Given the description of an element on the screen output the (x, y) to click on. 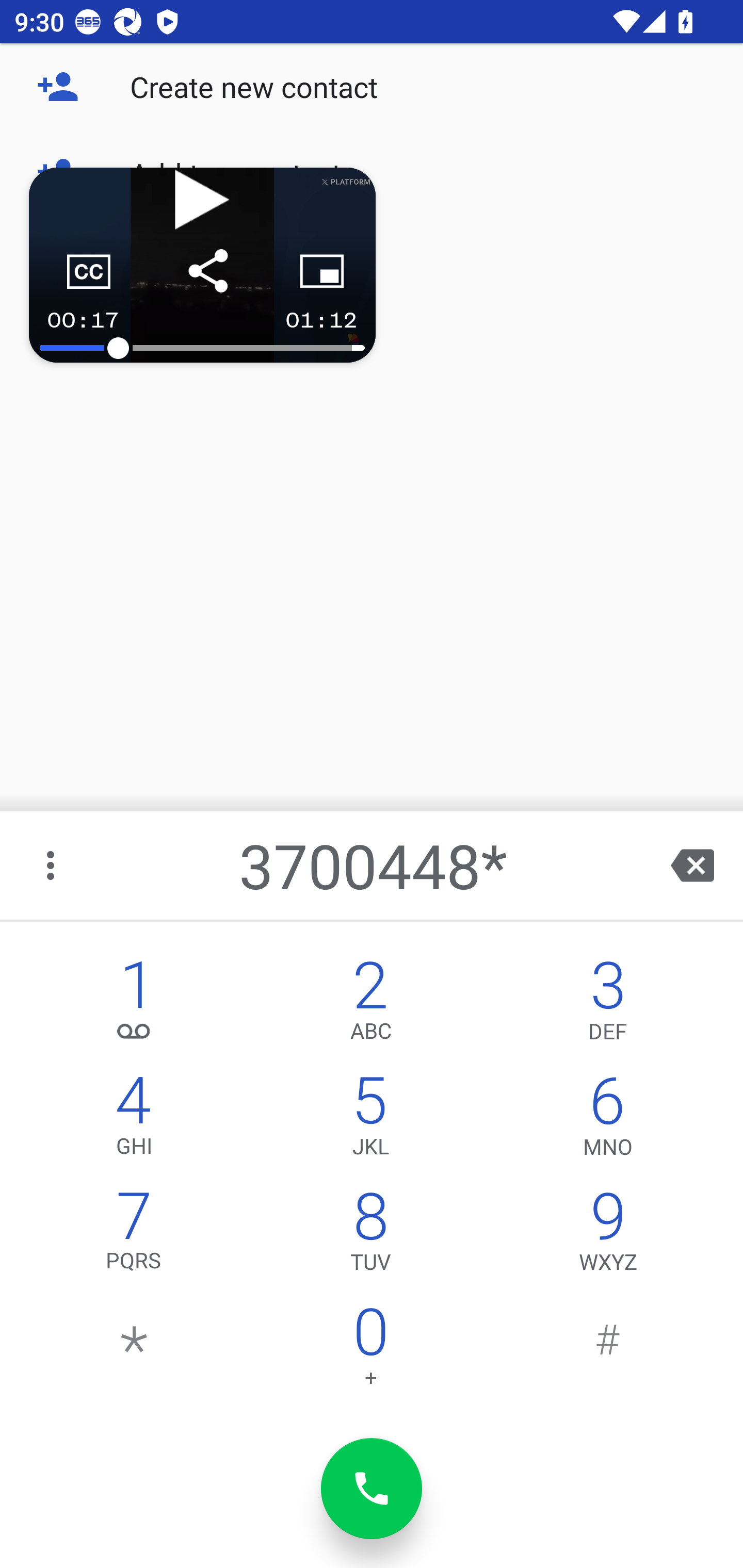
Create new contact (371, 86)
3700448* (372, 865)
backspace (692, 865)
More options (52, 865)
1, 1 (133, 1005)
2,ABC 2 ABC (370, 1005)
3,DEF 3 DEF (607, 1005)
4,GHI 4 GHI (133, 1120)
5,JKL 5 JKL (370, 1120)
6,MNO 6 MNO (607, 1120)
7,PQRS 7 PQRS (133, 1235)
8,TUV 8 TUV (370, 1235)
9,WXYZ 9 WXYZ (607, 1235)
* (133, 1351)
0 0 + (370, 1351)
# (607, 1351)
dial (371, 1488)
